Given the description of an element on the screen output the (x, y) to click on. 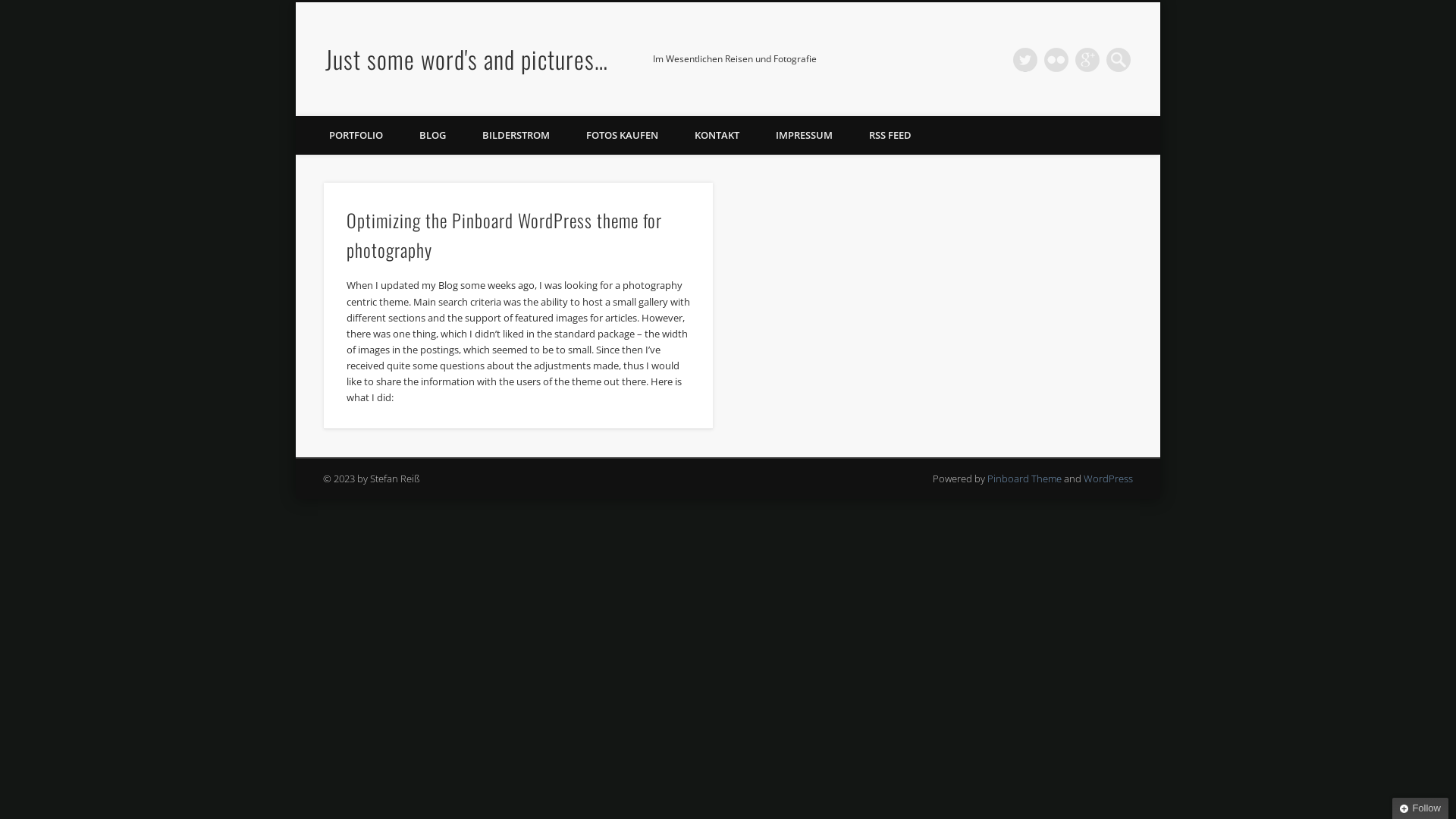
Search Element type: text (11, 9)
PORTFOLIO Element type: text (355, 135)
WordPress Element type: text (1107, 478)
IMPRESSUM Element type: text (803, 135)
RSS FEED Element type: text (889, 135)
KONTAKT Element type: text (716, 135)
Twitter Element type: text (1025, 59)
Optimizing the Pinboard WordPress theme for photography Element type: text (504, 234)
FOTOS KAUFEN Element type: text (621, 135)
BILDERSTROM Element type: text (515, 135)
Pinboard Theme Element type: text (1024, 478)
Google+ Element type: text (1087, 59)
BLOG Element type: text (432, 135)
Flickr Element type: text (1056, 59)
